Given the description of an element on the screen output the (x, y) to click on. 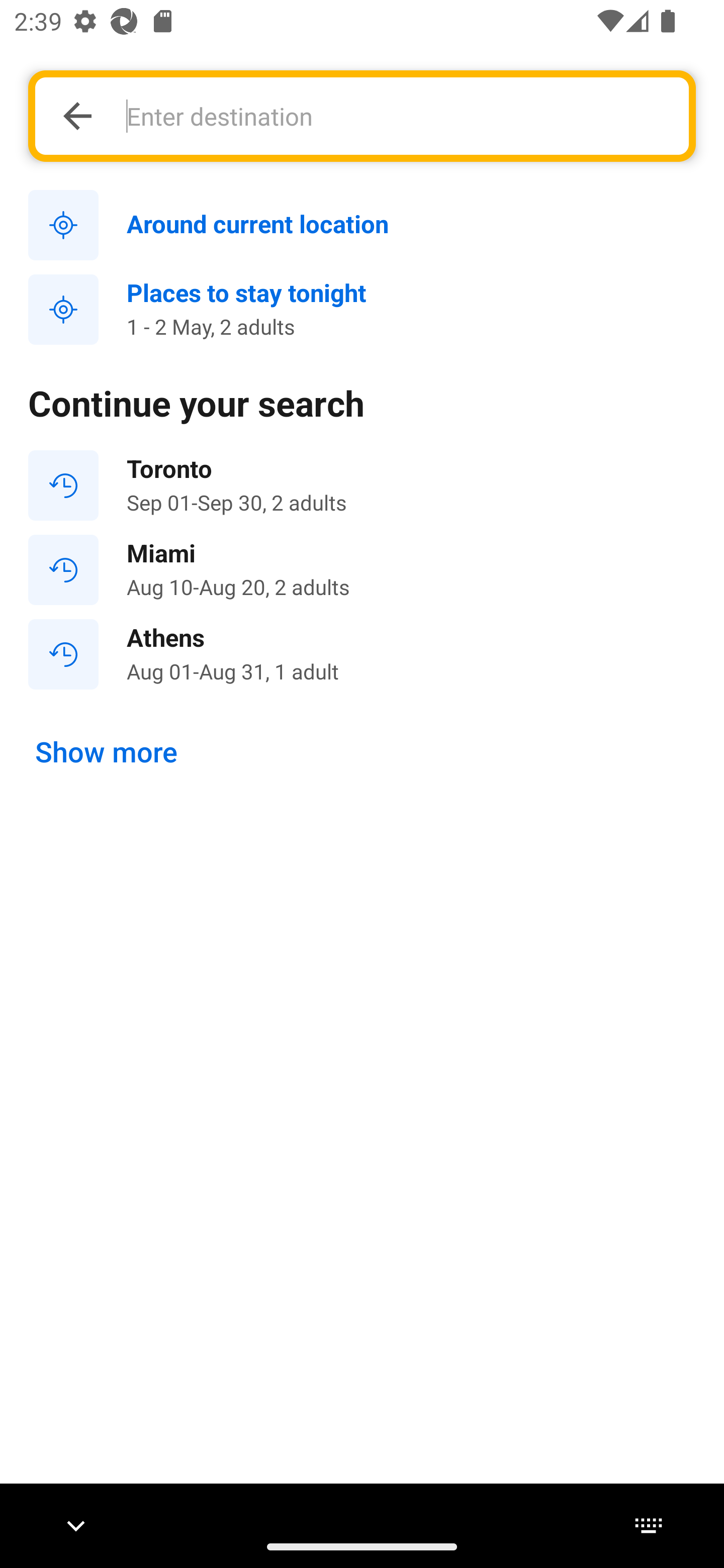
Enter destination (396, 115)
Around current location (362, 225)
Places to stay tonight 1 - 2 May, 2 adults (362, 309)
Toronto Sep 01-Sep 30, 2 adults  (362, 485)
Miami Aug 10-Aug 20, 2 adults  (362, 569)
Athens Aug 01-Aug 31, 1 adult  (362, 653)
Show more (106, 752)
